Given the description of an element on the screen output the (x, y) to click on. 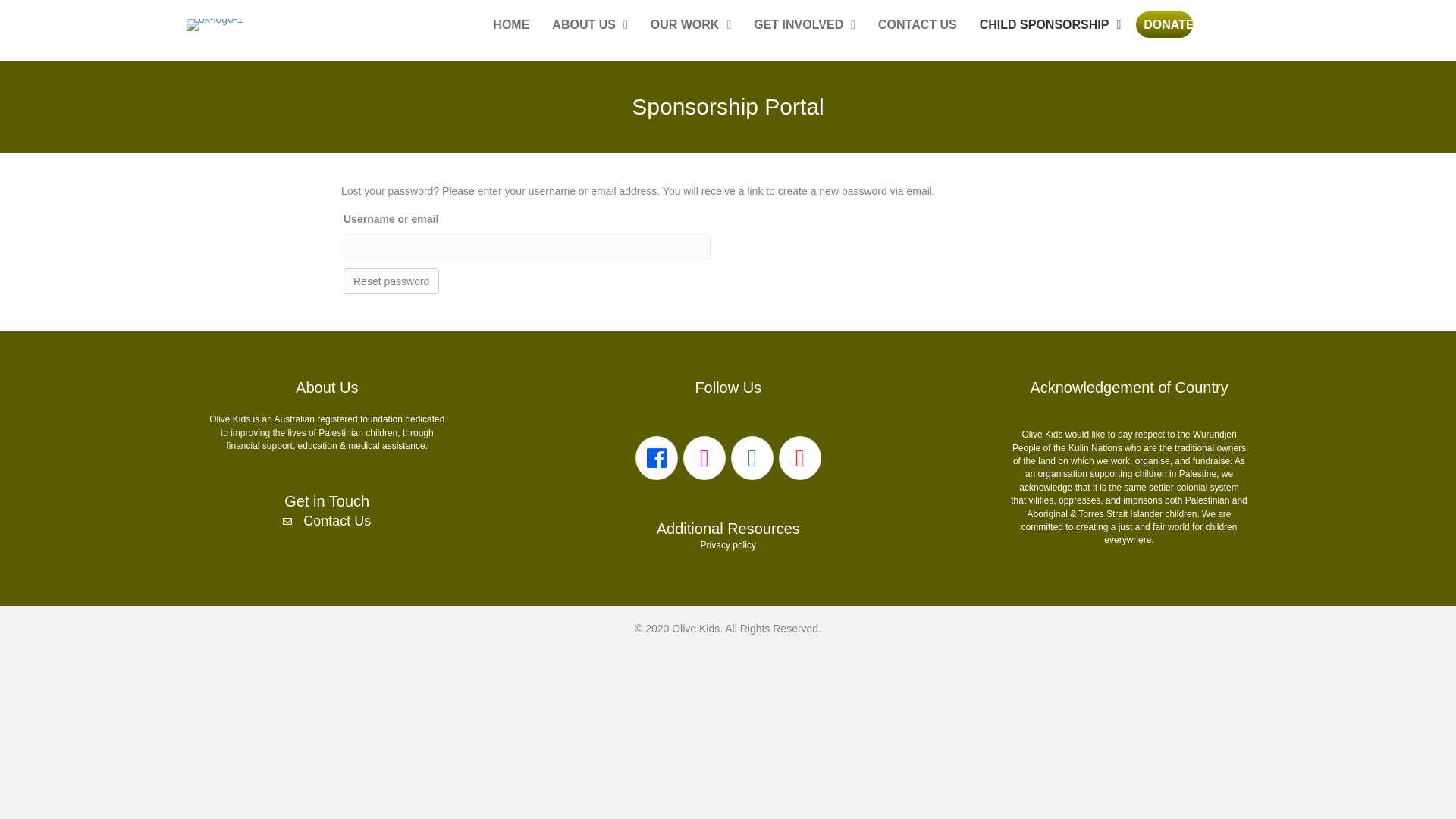
Contact Us Element type: text (336, 520)
DONATE Element type: text (1163, 24)
Reset password Element type: text (391, 281)
ABOUT US Element type: text (589, 24)
CHILD SPONSORSHIP Element type: text (1050, 24)
HOME Element type: text (510, 24)
CONTACT US Element type: text (917, 24)
ok-logo-1 Element type: hover (214, 24)
Privacy policy Element type: text (728, 544)
GET INVOLVED Element type: text (804, 24)
OUR WORK Element type: text (691, 24)
